Given the description of an element on the screen output the (x, y) to click on. 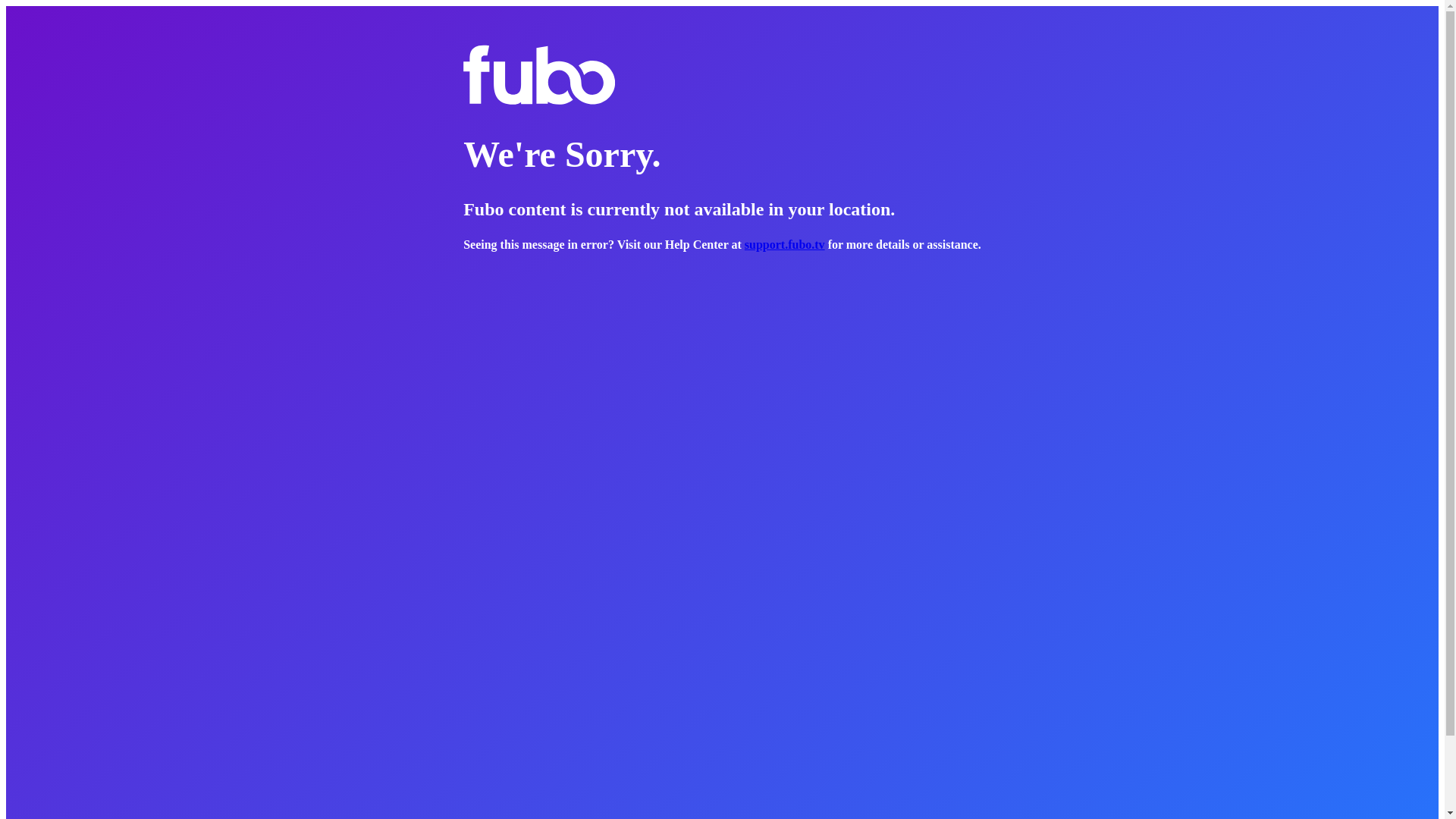
fubo logo (538, 75)
support.fubo.tv (784, 244)
